Given the description of an element on the screen output the (x, y) to click on. 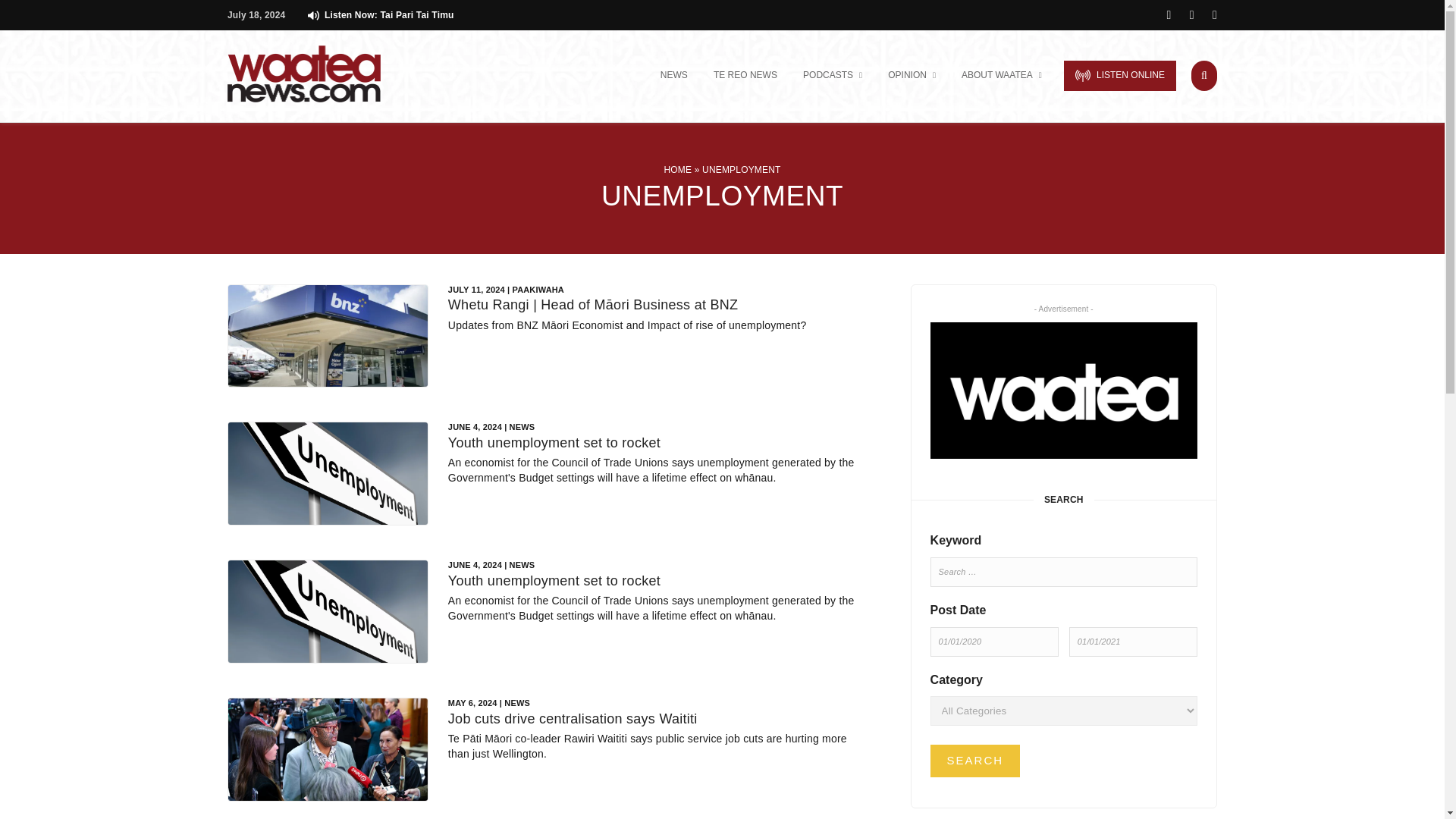
NEWS (673, 76)
TE REO NEWS (745, 76)
Youth unemployment set to rocket (554, 442)
Youth unemployment set to rocket (554, 580)
Job cuts drive centralisation says Waititi (572, 718)
Search (975, 760)
Listen Now: Tai Pari Tai Timu (379, 14)
PODCASTS (832, 76)
